Given the description of an element on the screen output the (x, y) to click on. 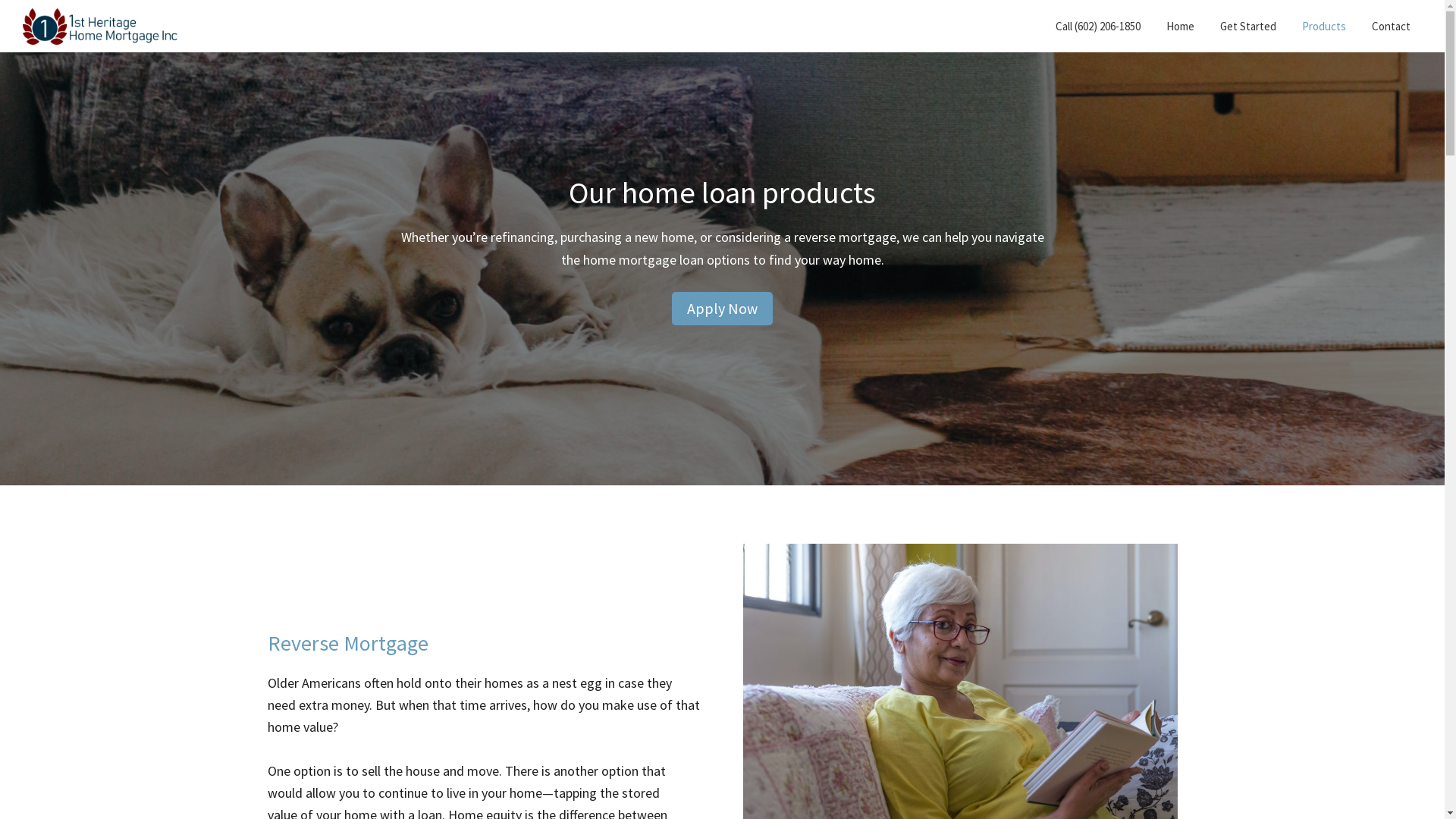
Get Started Element type: text (1247, 25)
Call (602) 206-1850 Element type: text (1097, 25)
Contact Element type: text (1390, 25)
Skip to primary navigation Element type: text (0, 0)
Apply Now Element type: text (721, 308)
Products Element type: text (1323, 25)
Home Element type: text (1179, 25)
